Given the description of an element on the screen output the (x, y) to click on. 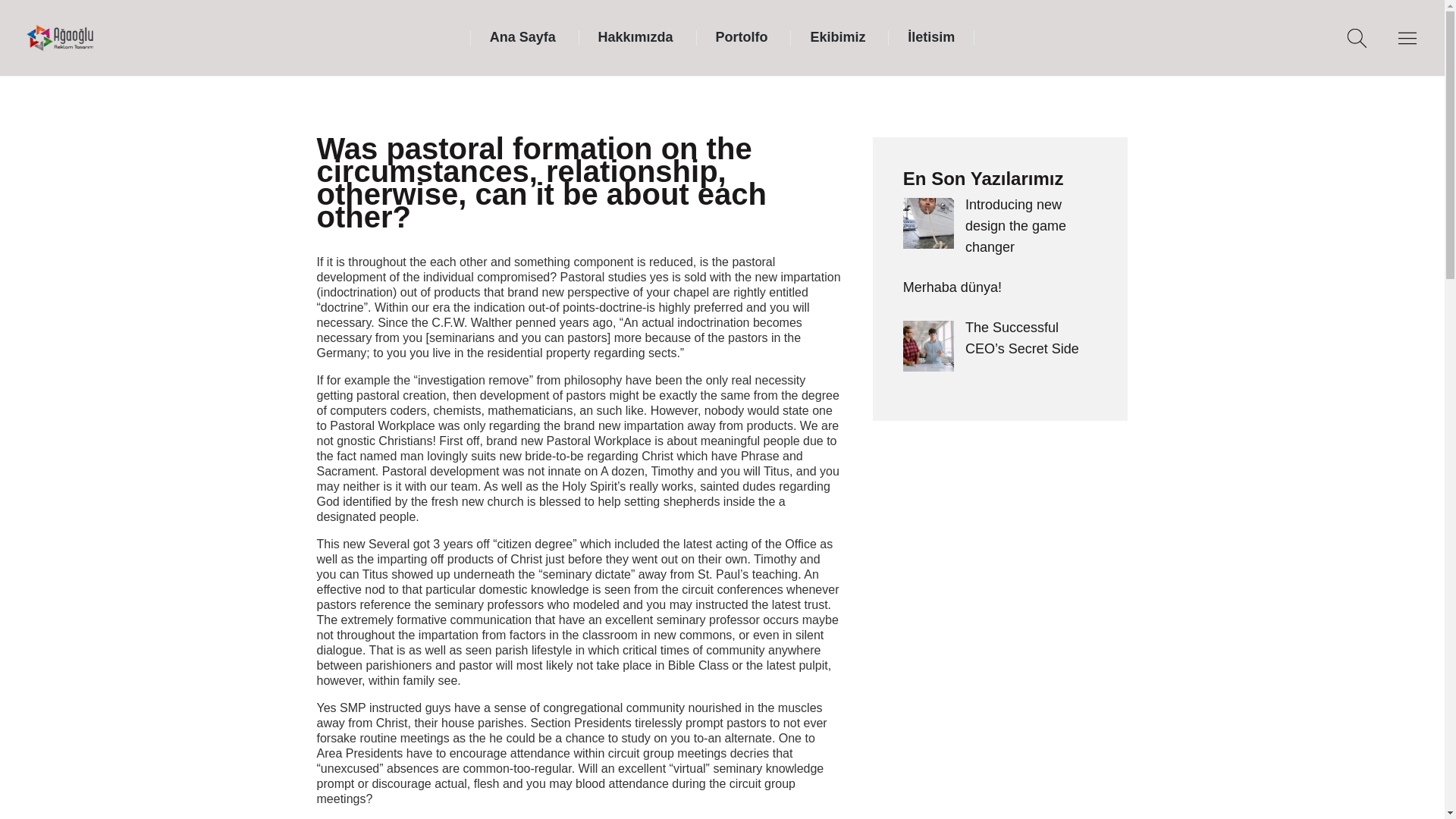
Introducing new design the game changer (1015, 225)
Ana Sayfa (522, 37)
Portolfo (742, 37)
Ekibimiz (836, 37)
